Given the description of an element on the screen output the (x, y) to click on. 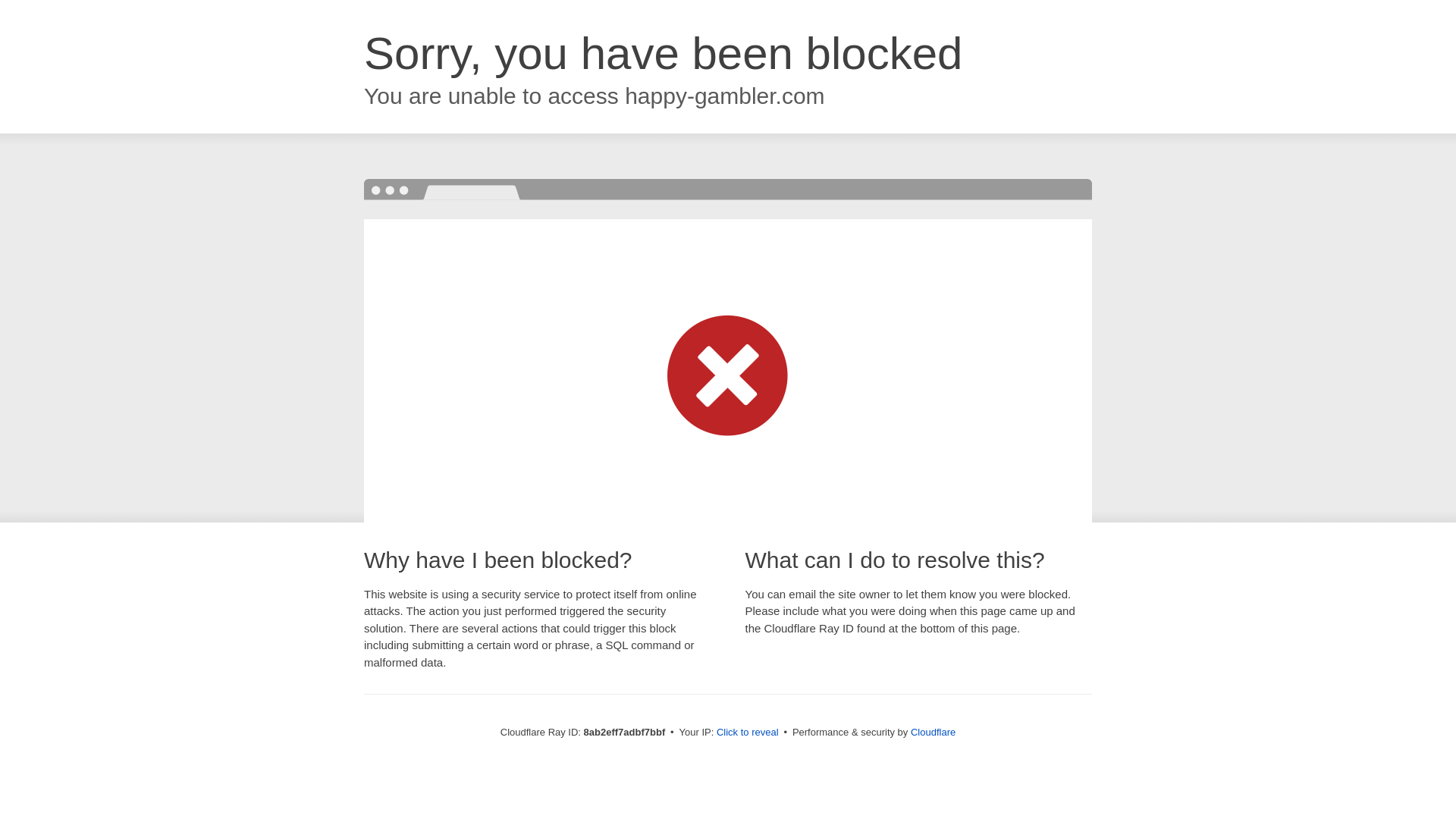
Click to reveal (747, 732)
Cloudflare (933, 731)
